Given the description of an element on the screen output the (x, y) to click on. 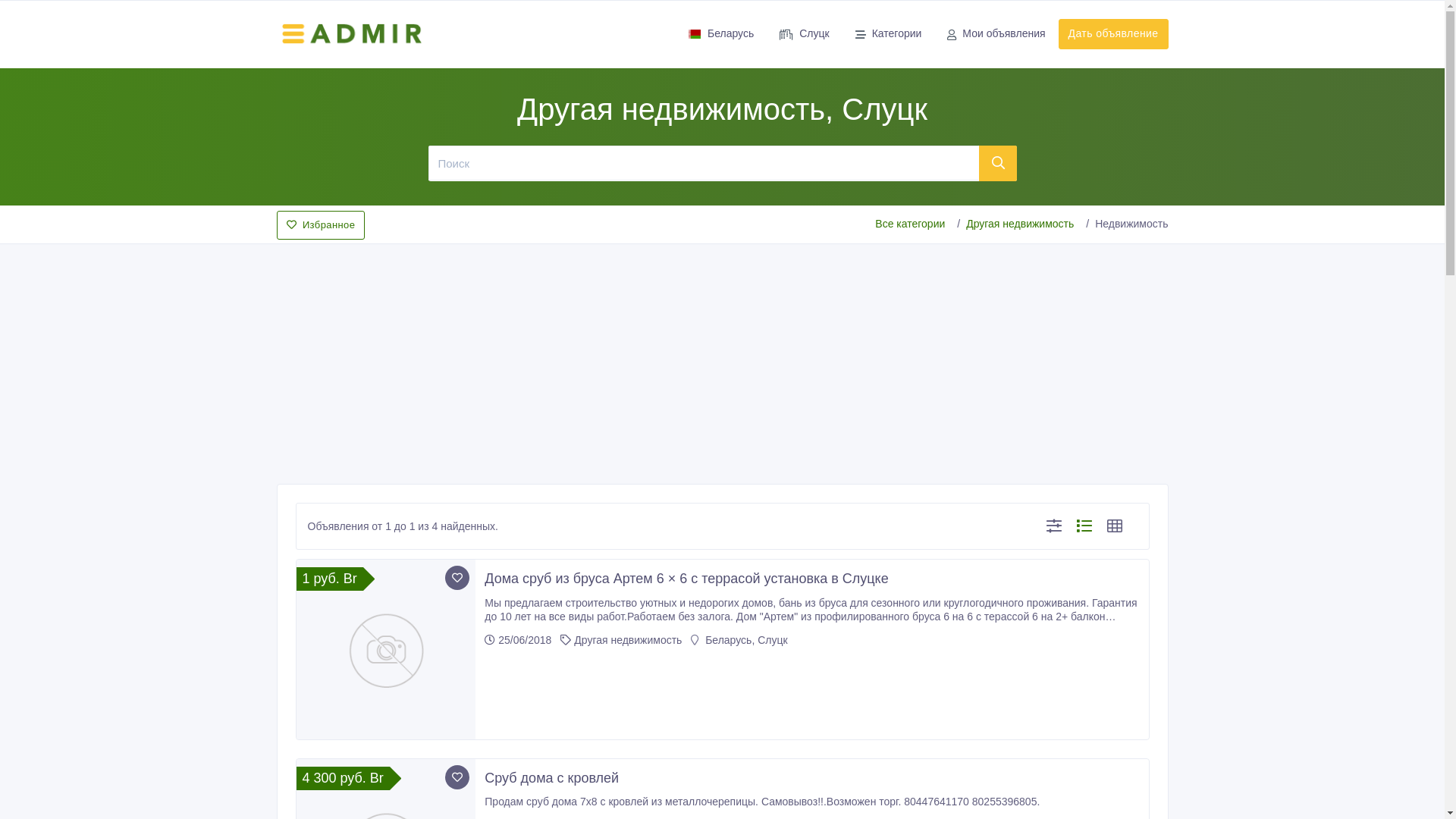
Add to favorite Element type: hover (457, 577)
Add to favorite Element type: hover (457, 777)
